Given the description of an element on the screen output the (x, y) to click on. 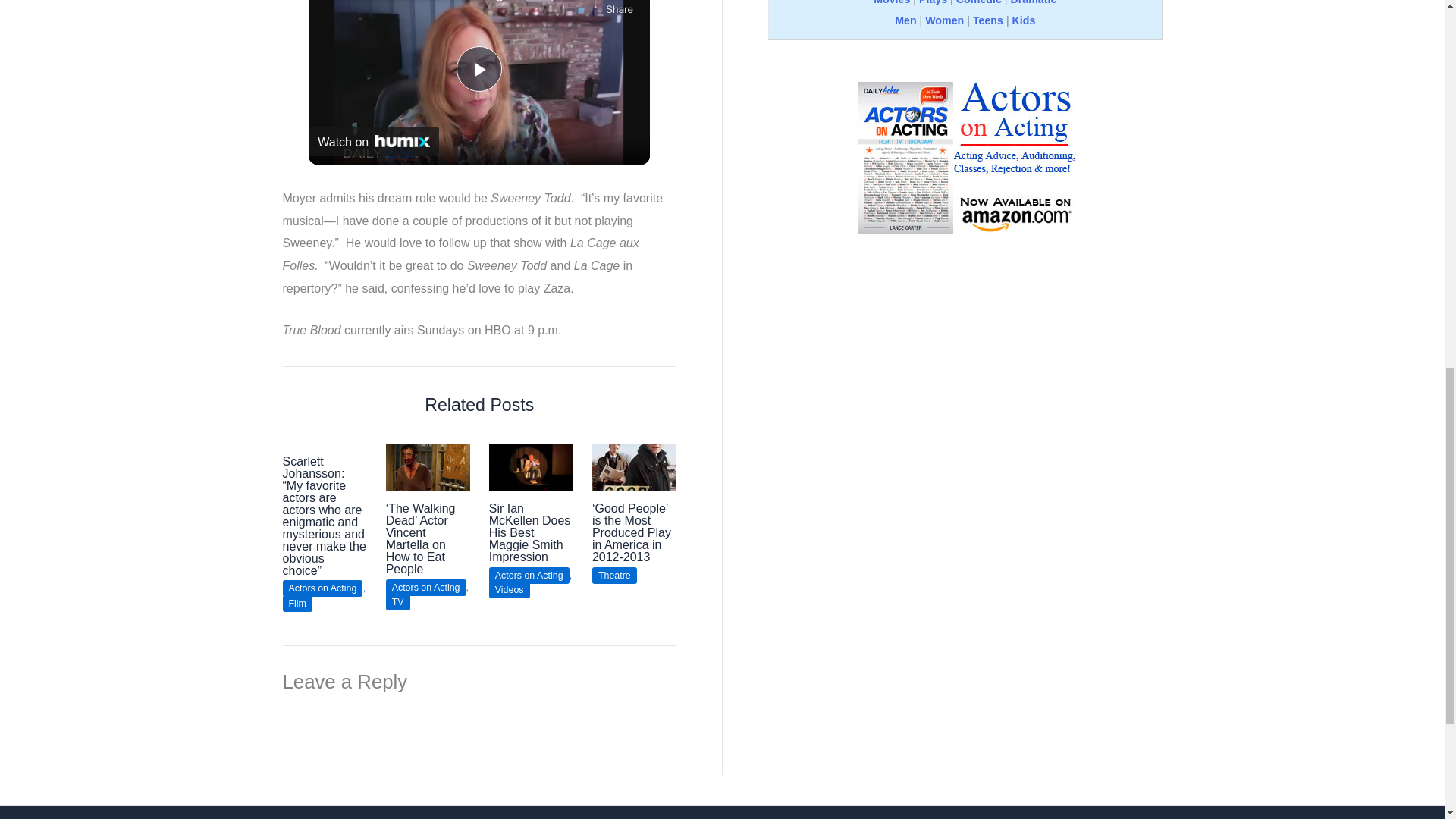
Play Video (479, 68)
share (619, 9)
